Given the description of an element on the screen output the (x, y) to click on. 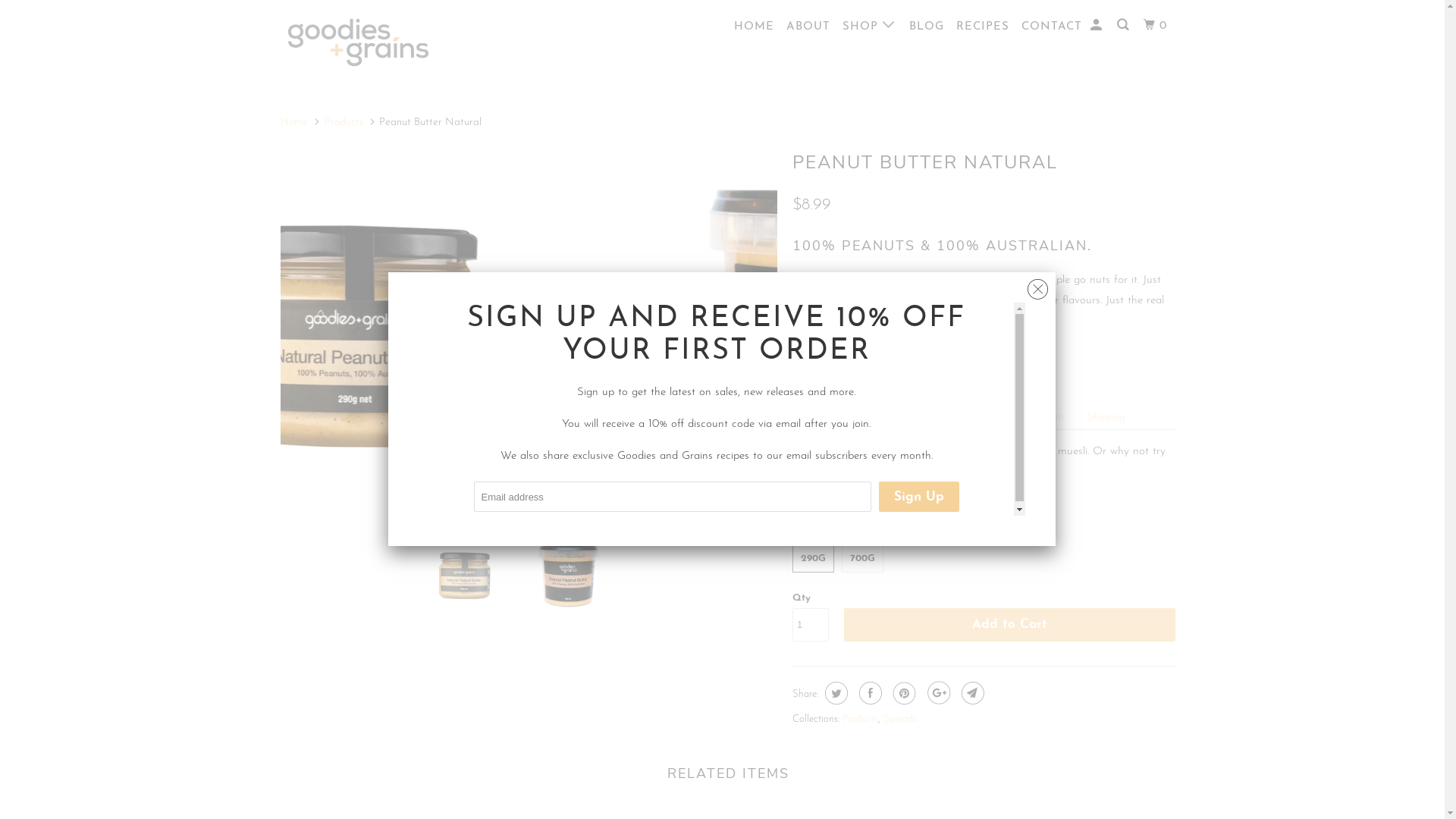
RECIPES Element type: text (982, 26)
Share this on Google+ Element type: hover (936, 692)
Share this on Pinterest Element type: hover (902, 692)
Email this to a friend Element type: hover (970, 692)
Serving Suggestion Element type: text (844, 416)
Products Element type: text (343, 122)
Add to Cart Element type: text (1009, 624)
0 Element type: text (1156, 25)
Share this on Facebook Element type: hover (868, 692)
Close Element type: hover (1037, 285)
Shipping Element type: text (1105, 417)
Products Element type: text (860, 719)
Home Element type: text (293, 122)
Sign Up Element type: text (918, 496)
Nutrition & Allergens Element type: text (951, 417)
Search Element type: hover (1123, 25)
Share this on Twitter Element type: hover (834, 692)
Choc PB Jam Cups Element type: text (948, 471)
CONTACT Element type: text (1051, 26)
ABOUT Element type: text (808, 26)
Spreads Element type: text (899, 719)
My Account  Element type: hover (1097, 25)
Ingredients Element type: text (1041, 417)
HOME Element type: text (754, 26)
SHOP Element type: text (869, 25)
Peanut Butter Natural - Goodies and Grains Element type: hover (528, 333)
BLOG Element type: text (926, 26)
Goodies and Grains Element type: hover (358, 42)
